Given the description of an element on the screen output the (x, y) to click on. 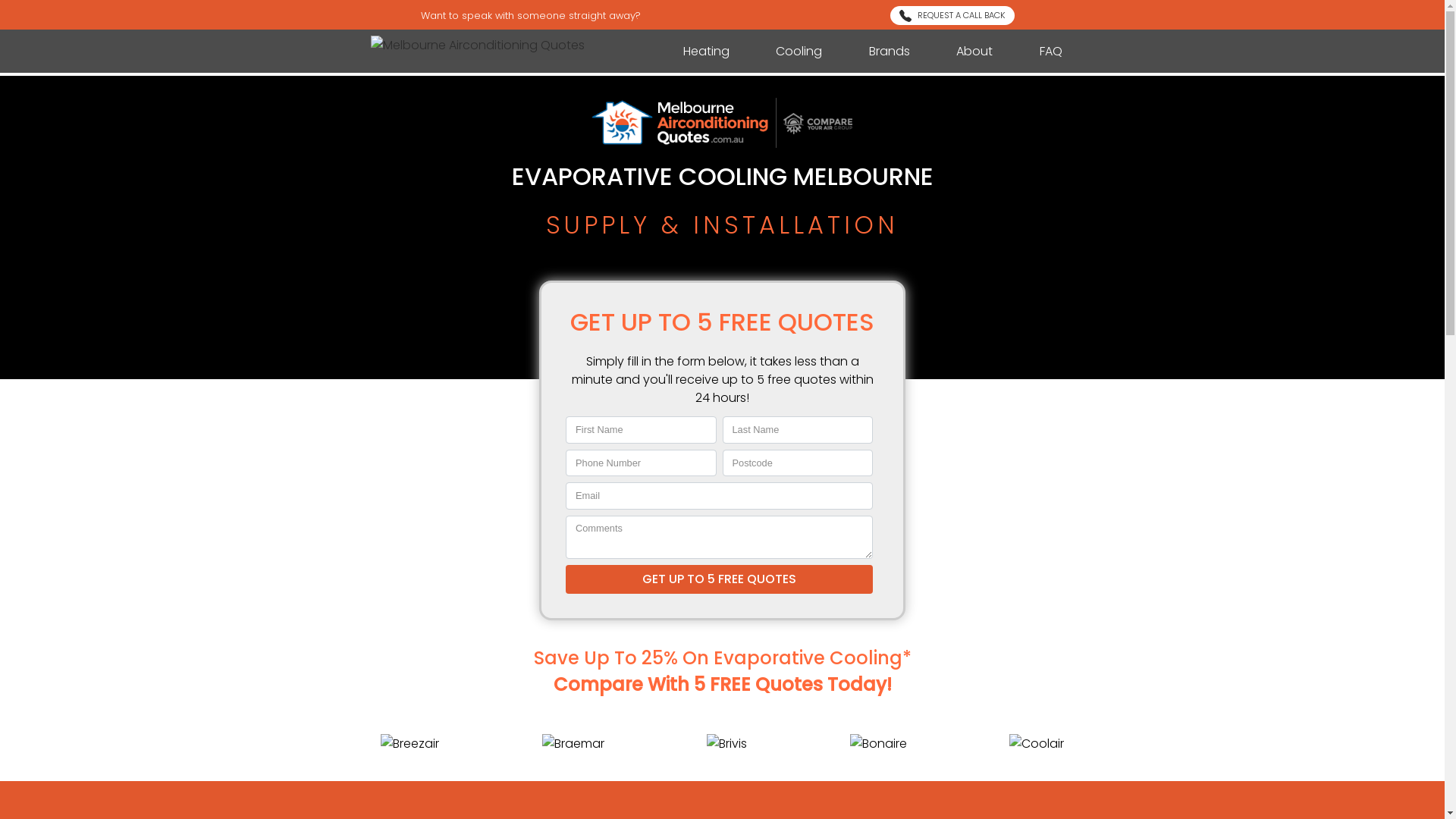
REQUEST A CALL BACK Element type: text (952, 15)
GET UP TO 5 FREE QUOTES Element type: text (718, 578)
About Element type: text (974, 50)
Brands Element type: text (889, 50)
FAQ Element type: text (1049, 50)
